Given the description of an element on the screen output the (x, y) to click on. 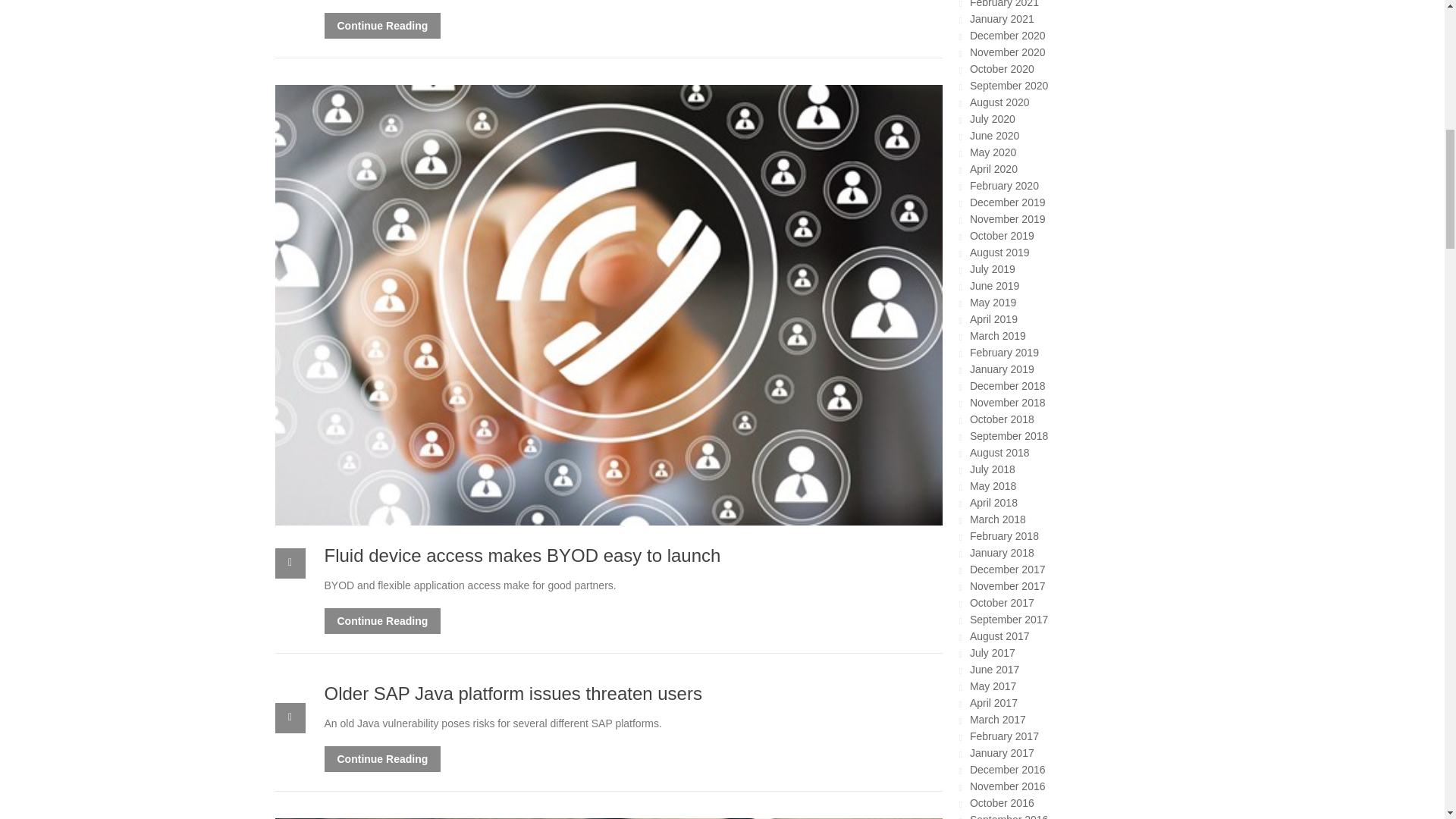
Continue Reading (382, 25)
Continue Reading (382, 759)
Permalink to Fluid device access makes BYOD easy to launch (522, 555)
Continue Reading (382, 620)
Permalink to Older SAP Java platform issues threaten users (512, 693)
Older SAP Java platform issues threaten users (512, 693)
Fluid device access makes BYOD easy to launch (522, 555)
